Given the description of an element on the screen output the (x, y) to click on. 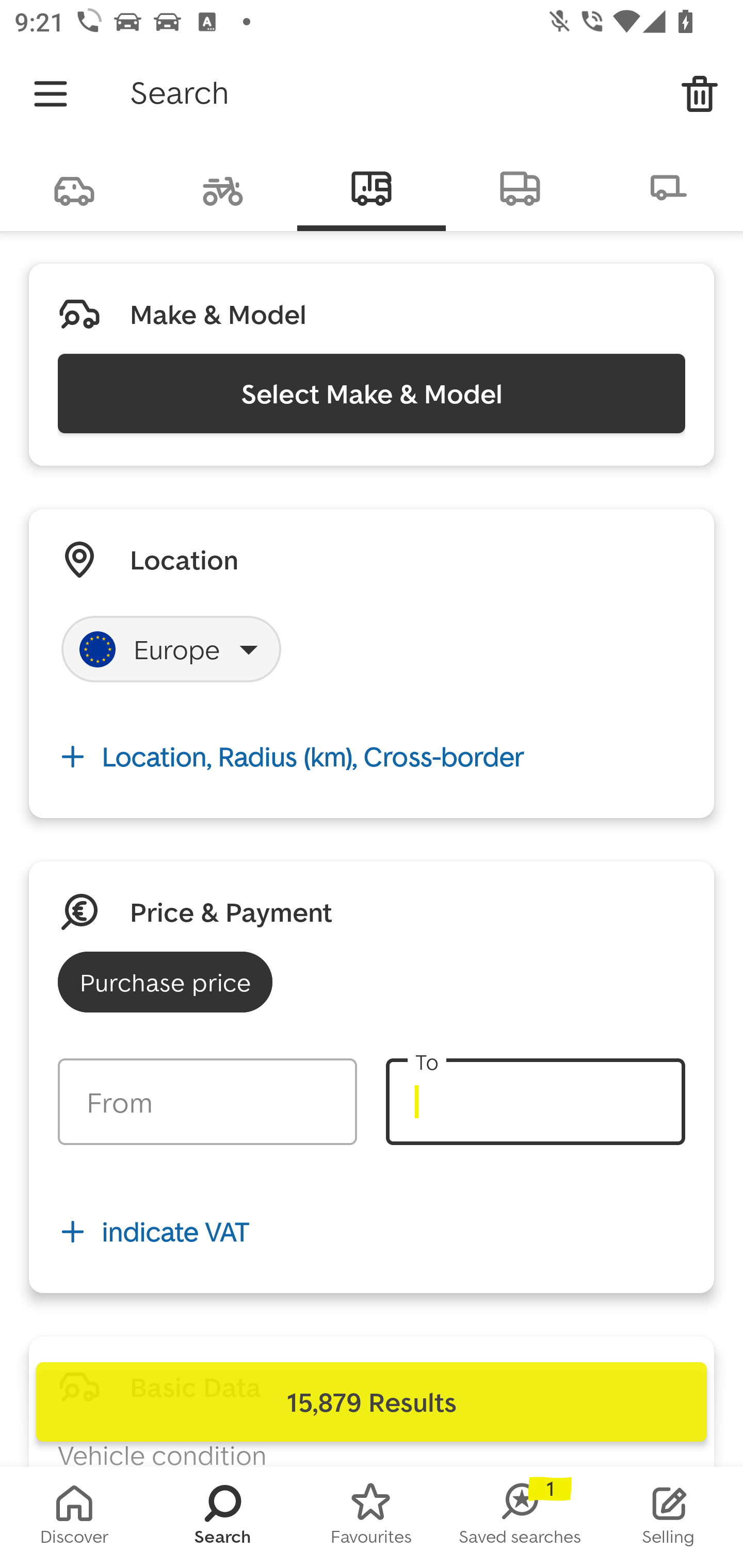
Navigate up (50, 93)
New search (699, 93)
CAR_SEARCH (74, 187)
BIKE_SEARCH (222, 187)
TRUCKS_SEARCH (519, 187)
TRAILERS_SEARCH (668, 187)
Make & Model (218, 314)
Select Make & Model (371, 393)
Location (184, 559)
Europe (170, 648)
Location, Radius (km), Cross-border (371, 756)
Price & Payment (231, 911)
Purchase price (164, 981)
From (207, 1101)
To (535, 1101)
indicate VAT (371, 1231)
15,879 Results (371, 1401)
HOMESCREEN Discover (74, 1517)
SEARCH Search (222, 1517)
FAVORITES Favourites (371, 1517)
SAVED_SEARCHES Saved searches 1 (519, 1517)
STOCK_LIST Selling (668, 1517)
